Given the description of an element on the screen output the (x, y) to click on. 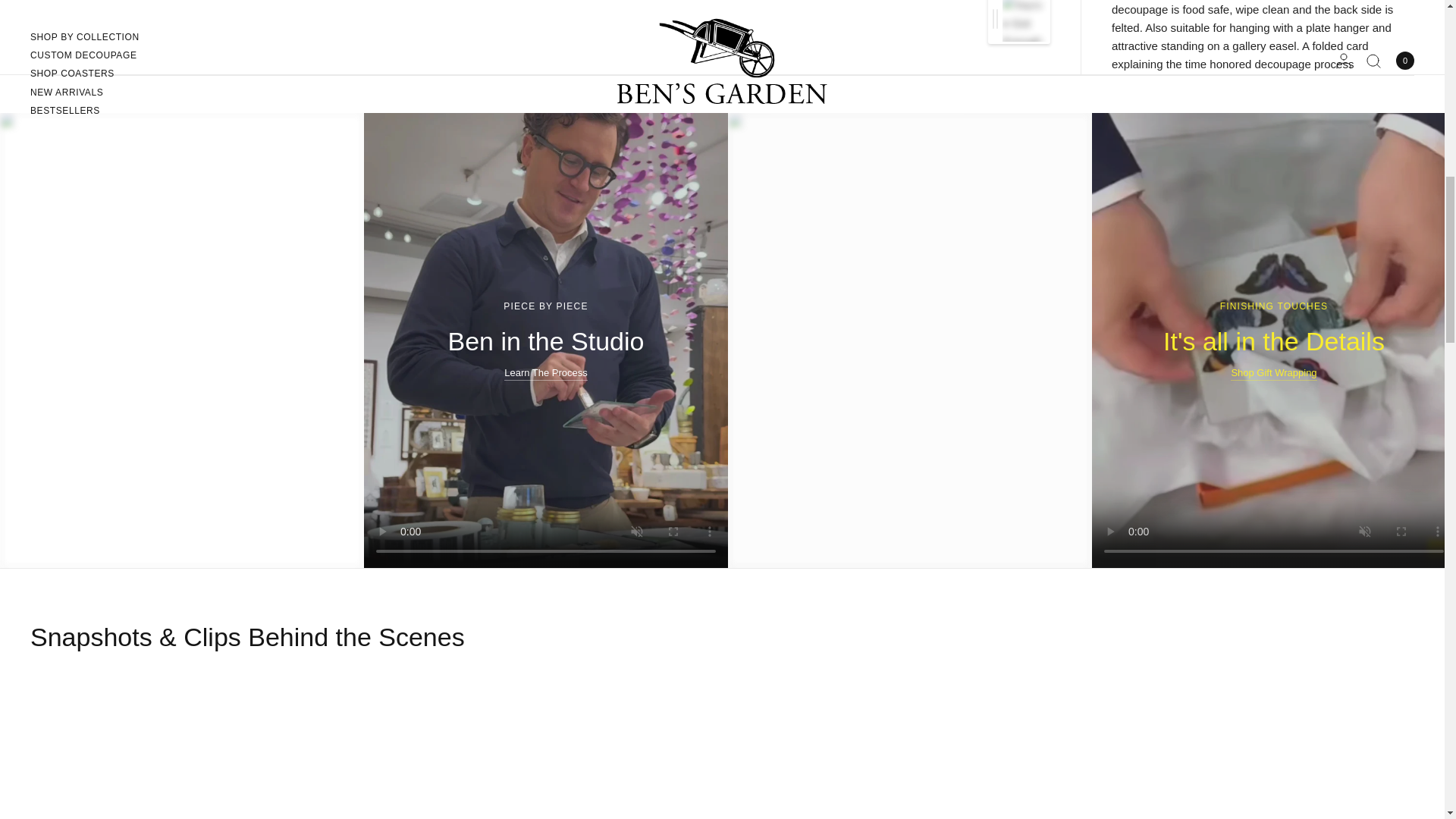
It's all in the Details (1273, 341)
Ben in the Studio (544, 341)
